Given the description of an element on the screen output the (x, y) to click on. 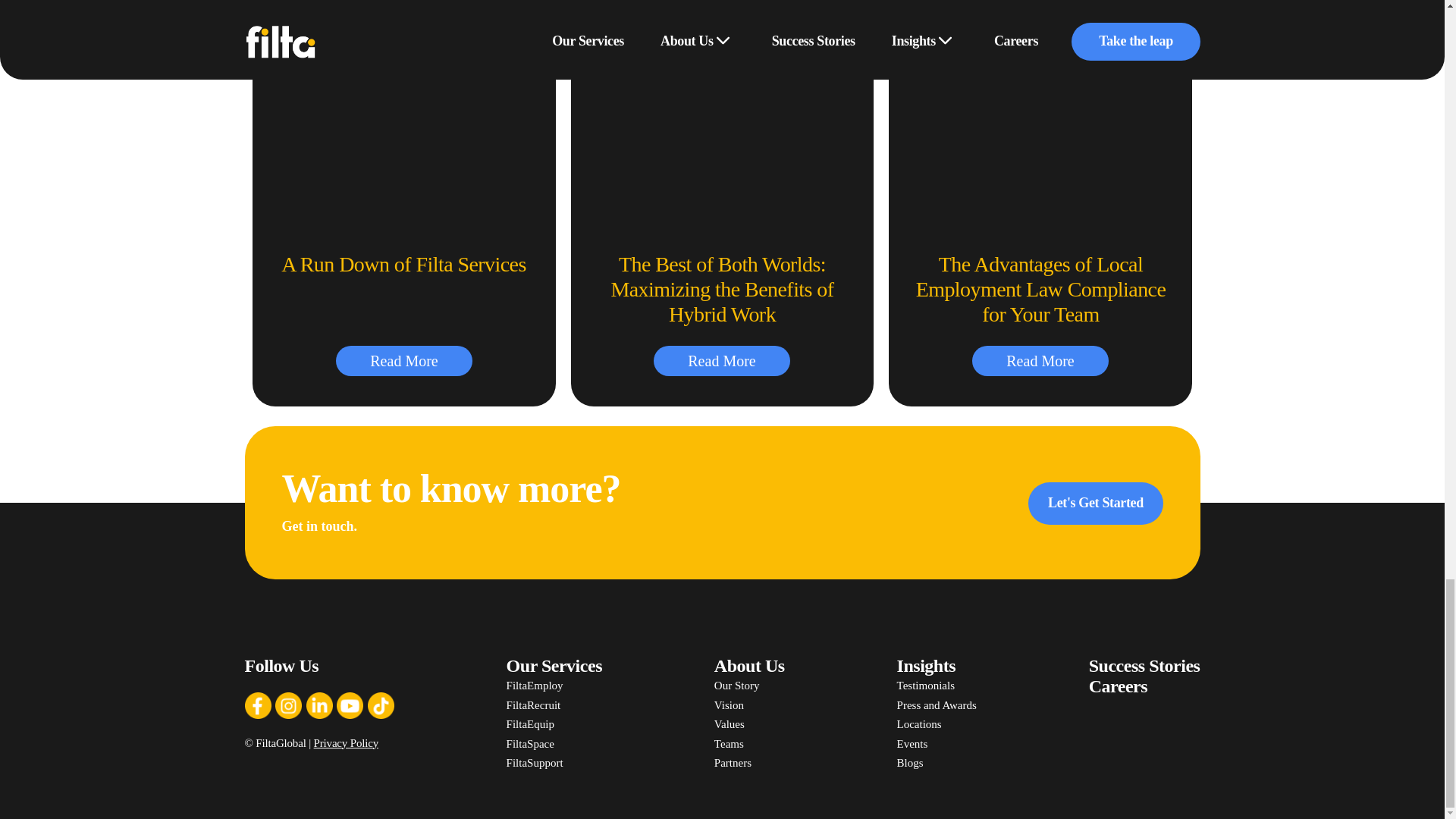
Privacy Policy (346, 743)
Read More (402, 360)
FiltaEquip (554, 724)
Read More (721, 360)
Let's Get Started (1095, 503)
FiltaSpace (554, 744)
Read More (1040, 360)
FiltaSupport (554, 763)
FiltaEmploy (554, 686)
FiltaRecruit (554, 705)
